Given the description of an element on the screen output the (x, y) to click on. 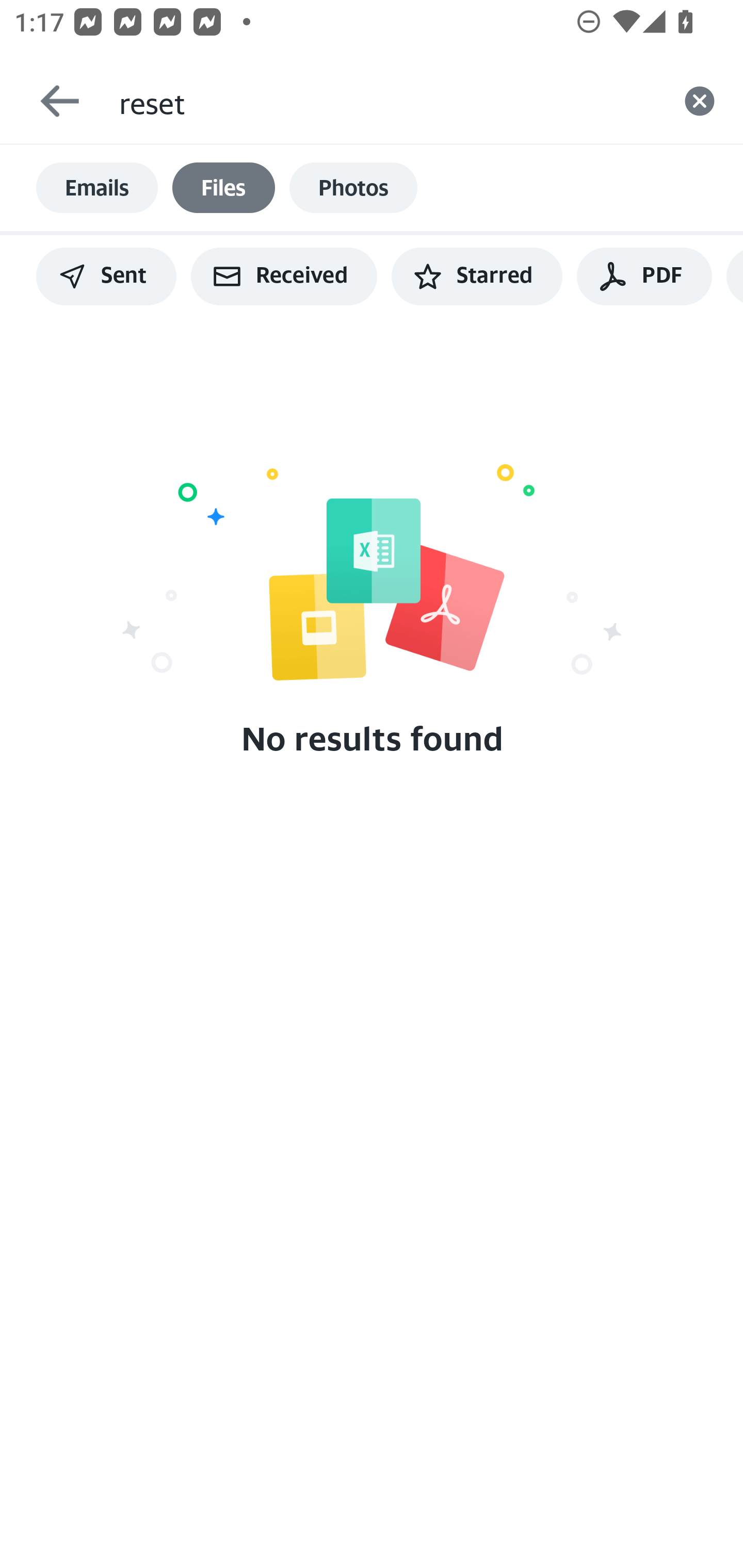
Back (50, 101)
reset (387, 101)
Clear (699, 101)
Emails (96, 188)
Files (223, 188)
Photos (353, 188)
Sent (106, 276)
Received (283, 276)
Starred (476, 276)
PDF (643, 276)
